Given the description of an element on the screen output the (x, y) to click on. 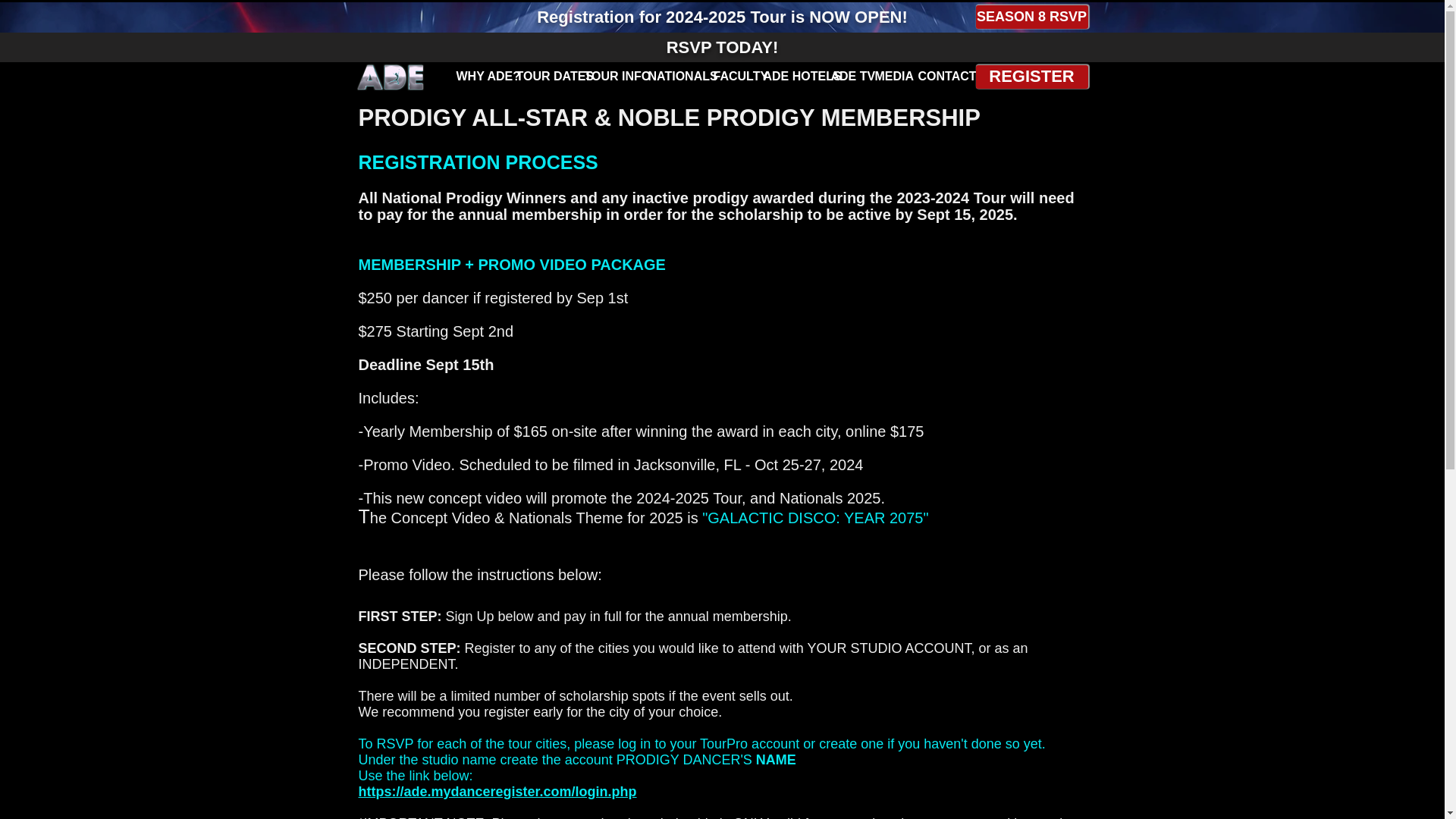
ADE TV (847, 76)
ADE HOTELS (790, 76)
REGISTER (1031, 76)
Details (411, 16)
FACULTY (732, 76)
SEASON 8 RSVP (1031, 16)
